Given the description of an element on the screen output the (x, y) to click on. 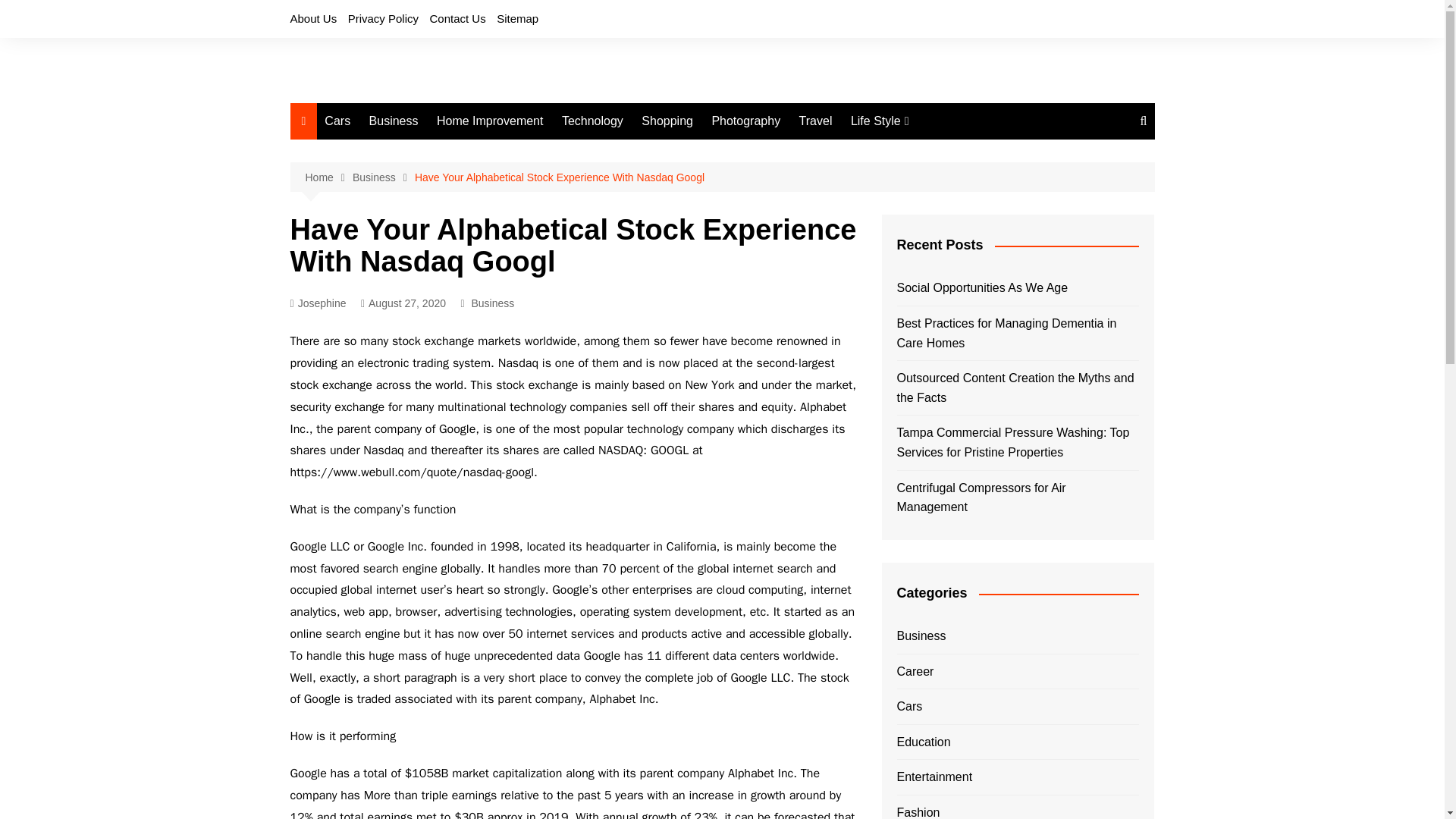
Business (393, 121)
Contact Us (456, 18)
Fashion (926, 151)
About Us (312, 18)
Business (491, 303)
Business (383, 177)
Food (926, 201)
August 27, 2020 (403, 303)
Josephine (317, 303)
Sitemap (517, 18)
Photography (745, 121)
Cars (337, 121)
Shopping (666, 121)
Life Style (880, 121)
Home (328, 177)
